Given the description of an element on the screen output the (x, y) to click on. 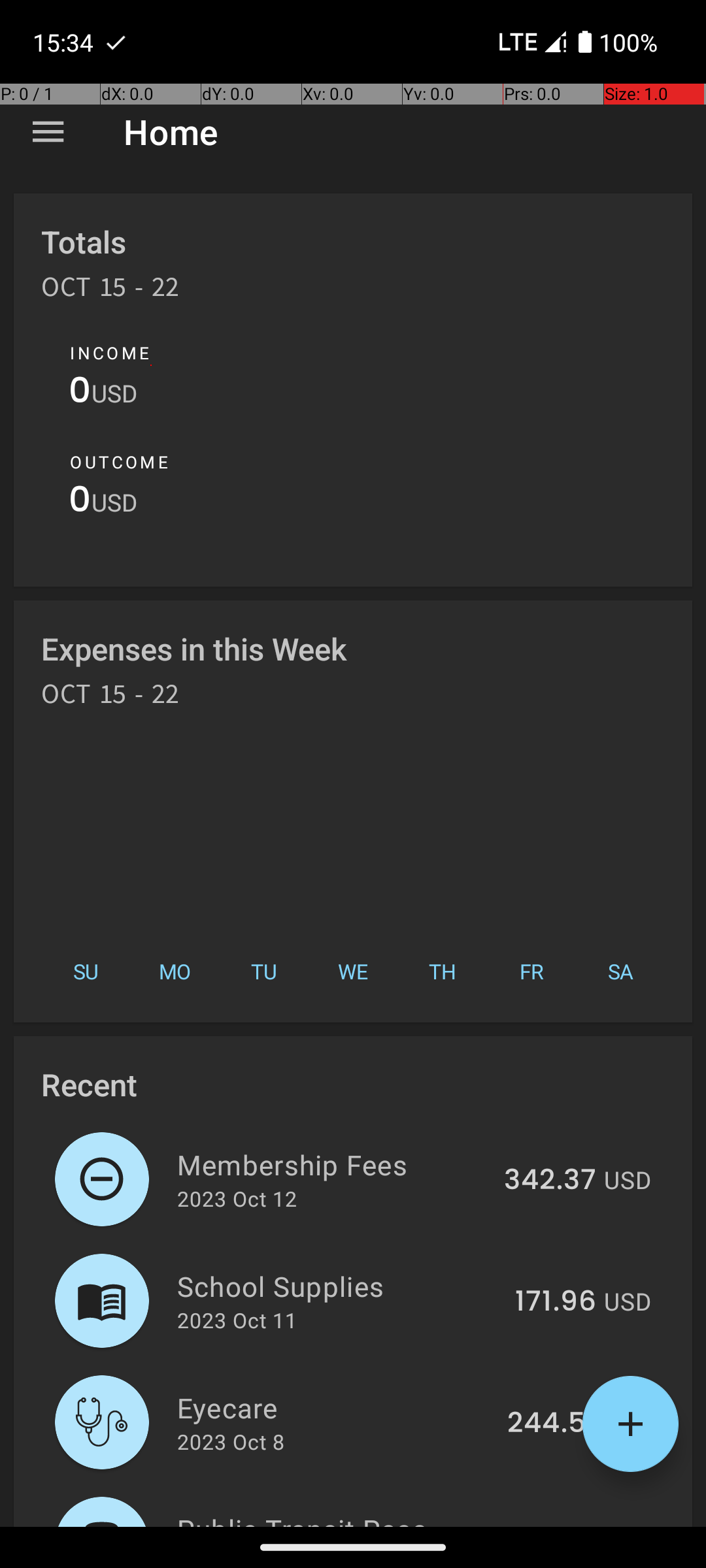
342.37 Element type: android.widget.TextView (549, 1180)
School Supplies Element type: android.widget.TextView (338, 1285)
171.96 Element type: android.widget.TextView (555, 1301)
Eyecare Element type: android.widget.TextView (334, 1407)
244.51 Element type: android.widget.TextView (551, 1423)
Public Transit Pass Element type: android.widget.TextView (339, 1518)
411.22 Element type: android.widget.TextView (556, 1524)
